Given the description of an element on the screen output the (x, y) to click on. 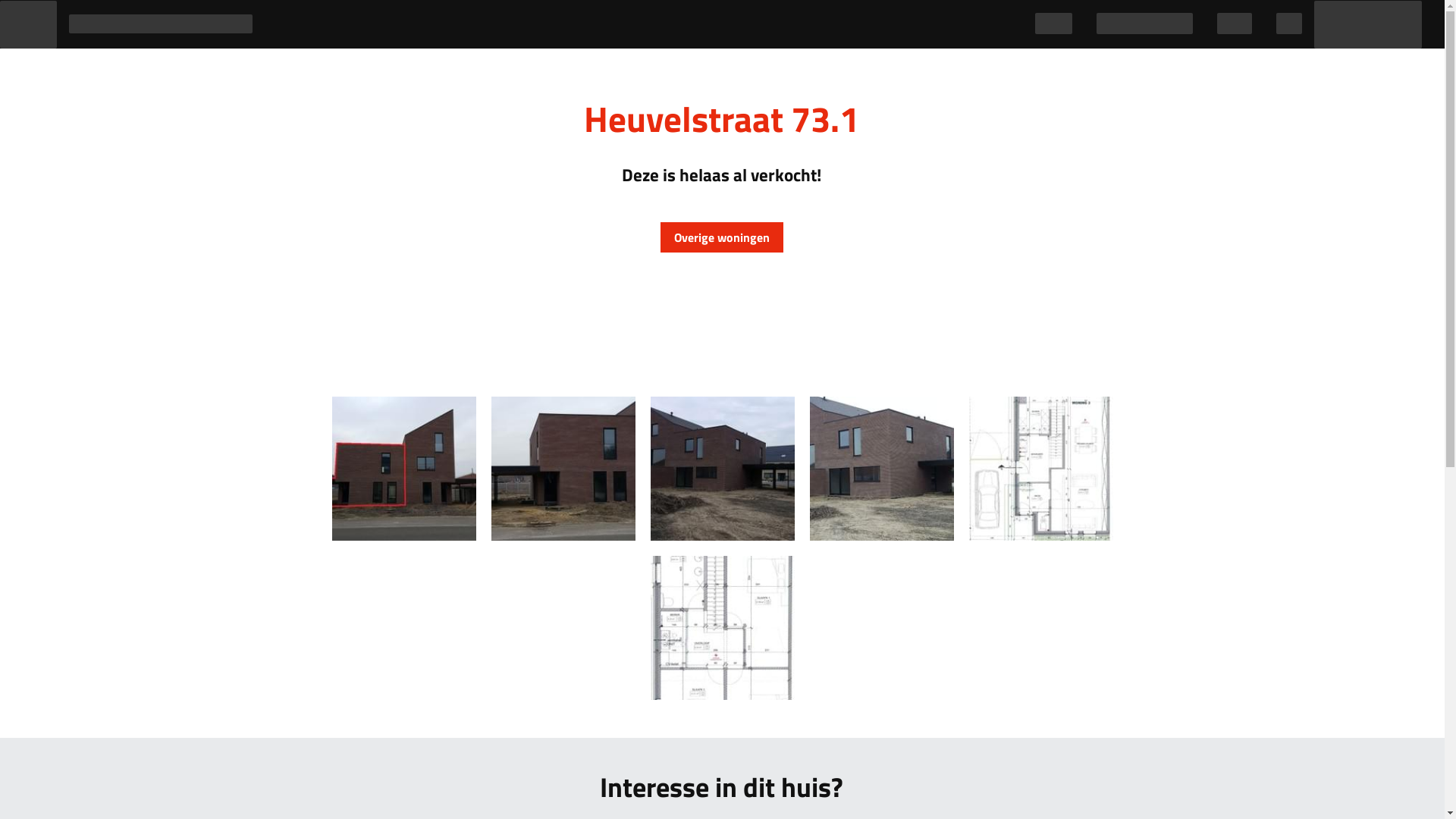
Jobs Element type: text (1289, 23)
Home Element type: text (1053, 23)
Immo Element type: text (1234, 23)
Overige woningen Element type: text (721, 237)
Onze realisaties Element type: text (1144, 23)
